Given the description of an element on the screen output the (x, y) to click on. 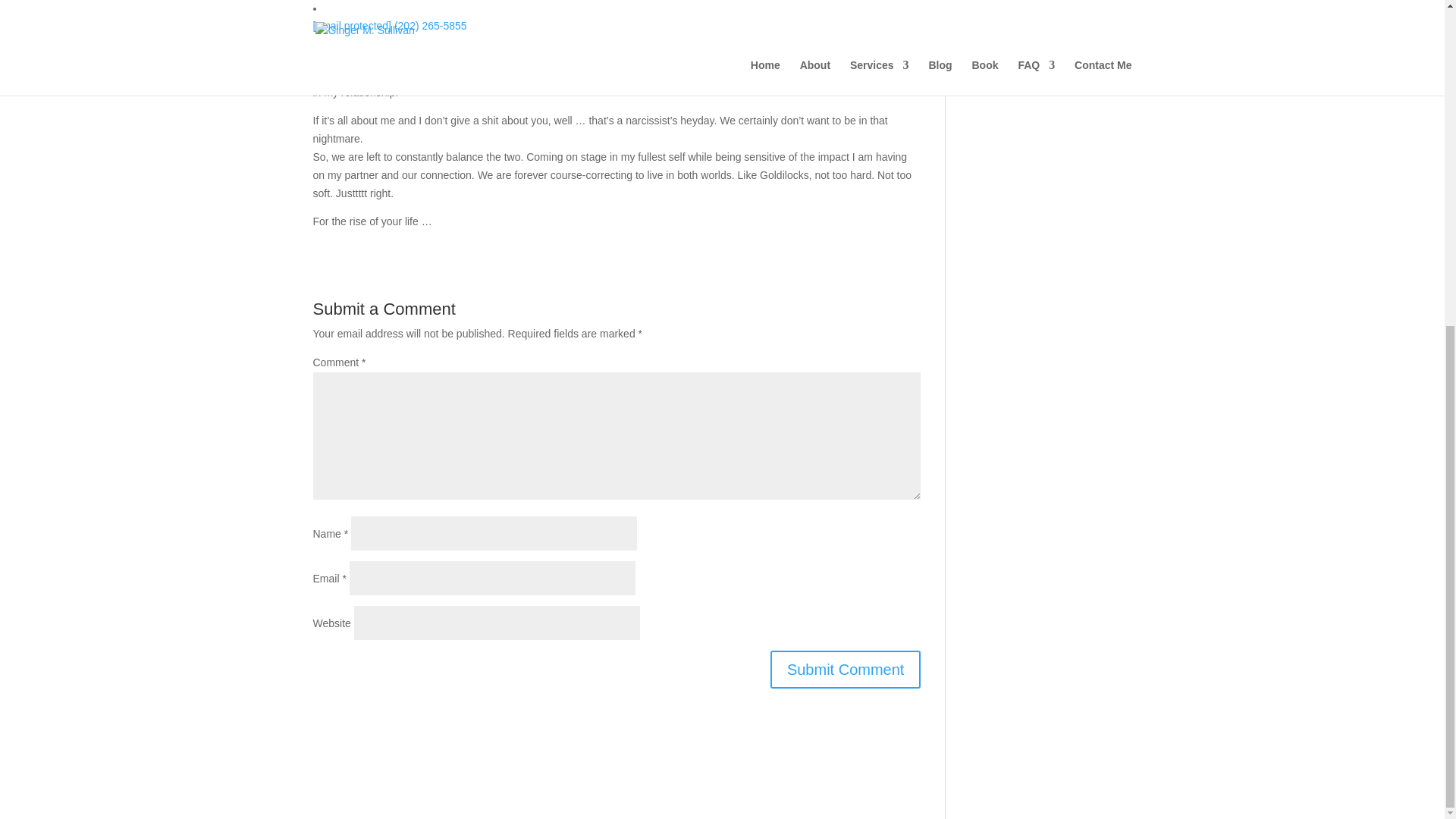
Submit Comment (845, 669)
Submit Comment (845, 669)
